Given the description of an element on the screen output the (x, y) to click on. 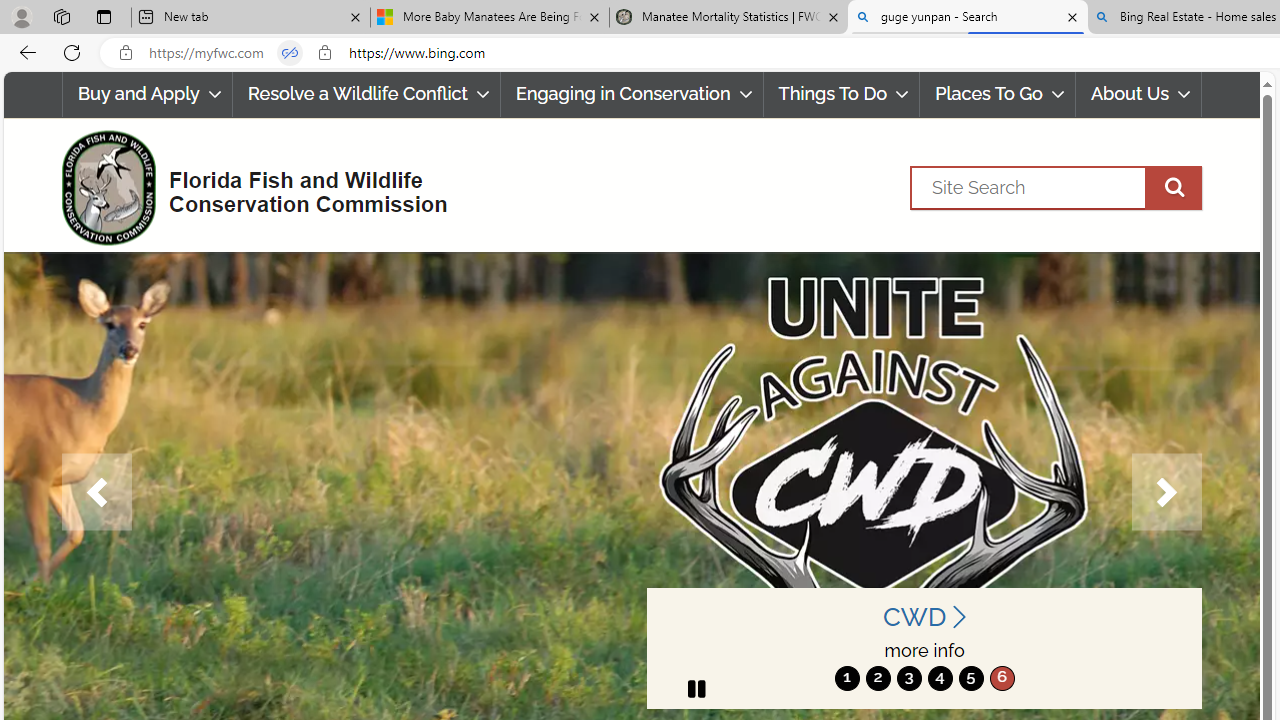
Places To Go (997, 94)
slider pause button (696, 688)
Next (1166, 491)
Buy and Apply (146, 94)
View site information (324, 53)
4 (939, 678)
Resolve a Wildlife Conflict (365, 94)
Things To Do (841, 94)
Workspaces (61, 16)
Previous (96, 491)
Back (24, 52)
guge yunpan - Search (967, 17)
5 (970, 678)
Resolve a Wildlife Conflict (365, 94)
Tabs in split screen (289, 53)
